Given the description of an element on the screen output the (x, y) to click on. 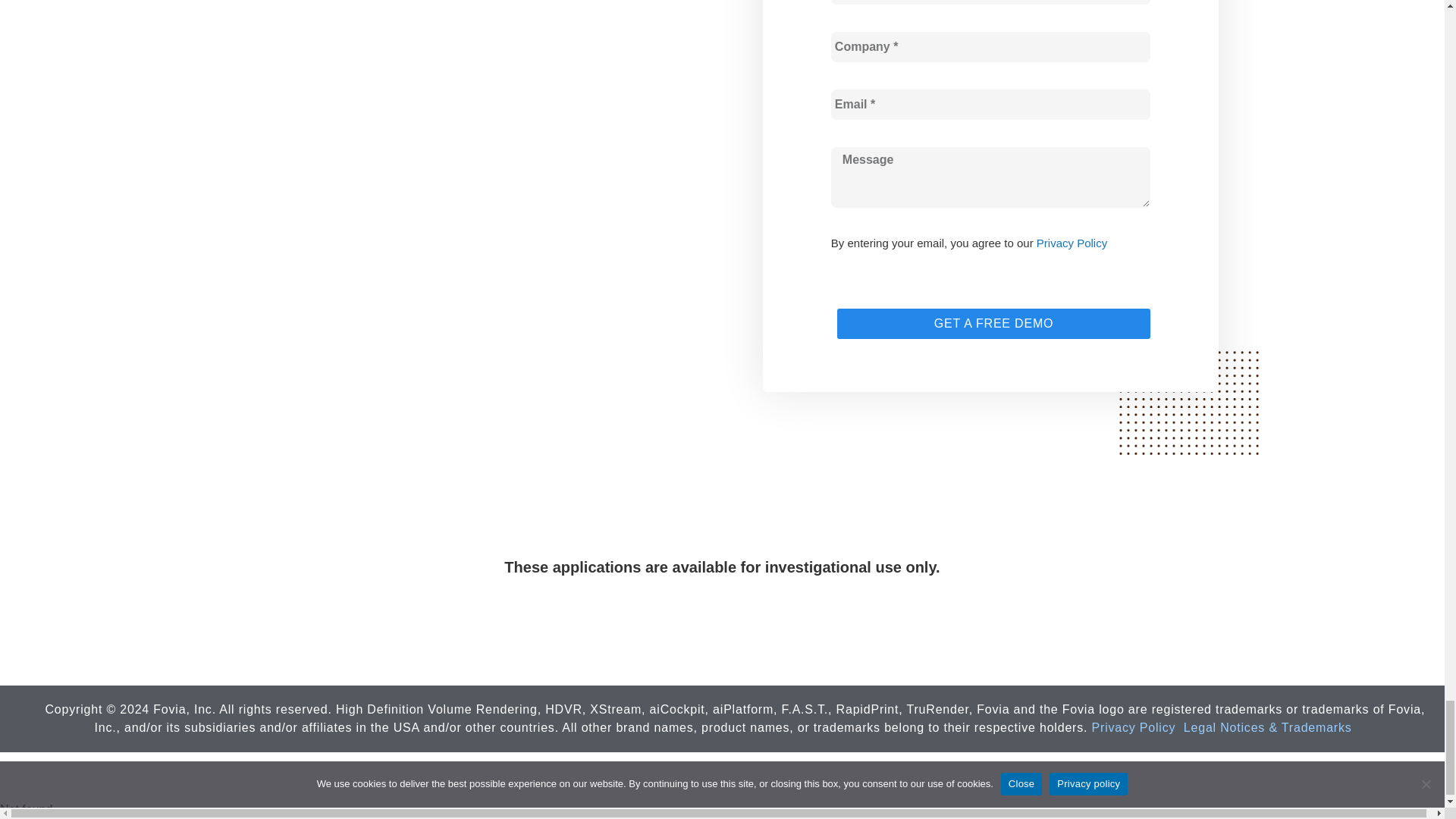
GET A FREE DEMO (993, 323)
Privacy Policy (1134, 728)
Privacy Policy (1071, 243)
